Given the description of an element on the screen output the (x, y) to click on. 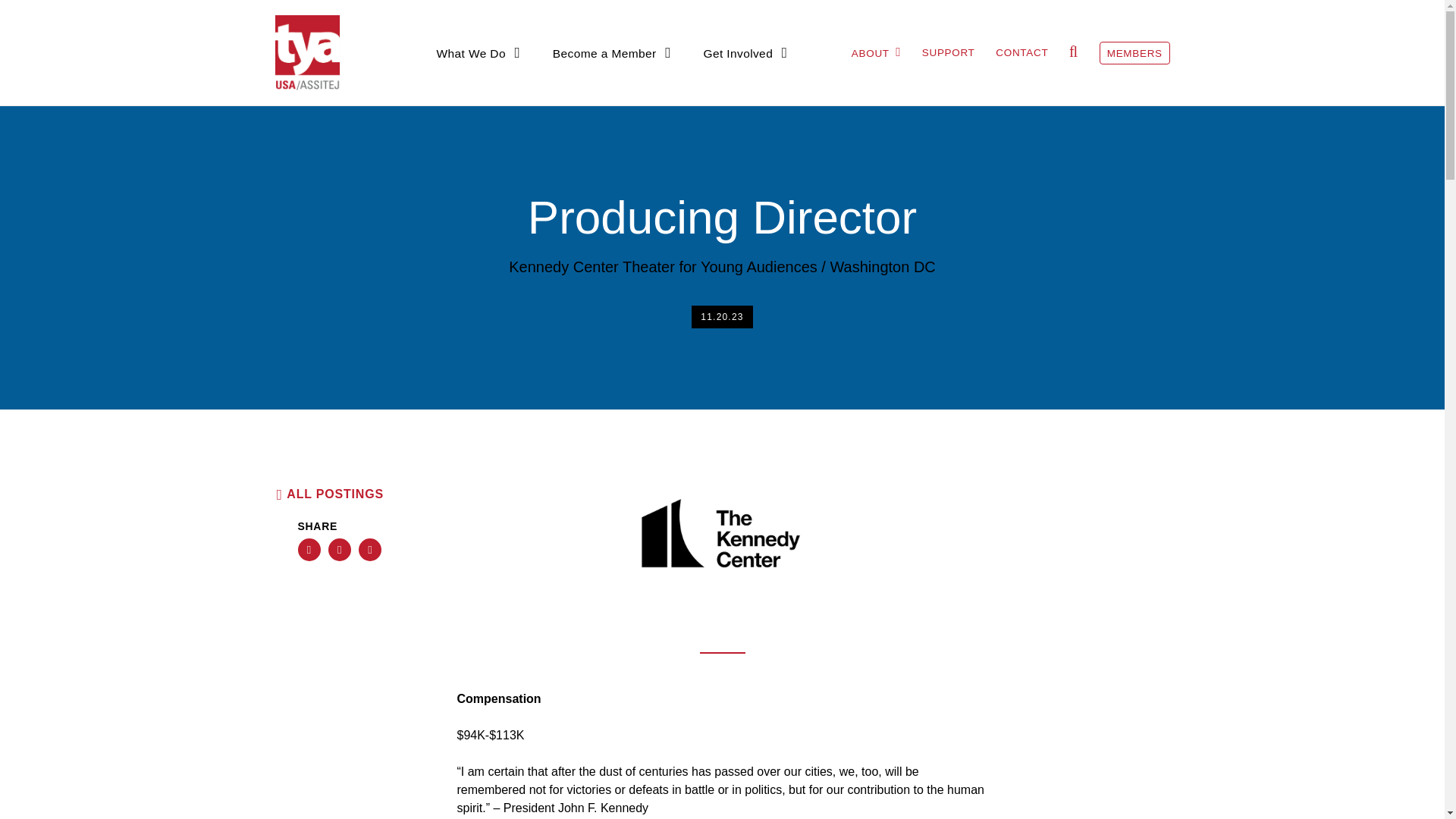
Events (505, 81)
ABOUT (876, 51)
Advertise (735, 81)
CONTACT (1021, 52)
Our Team (775, 81)
What We Do (478, 52)
Publications (707, 81)
ALL POSTINGS (328, 494)
SUPPORT (948, 52)
Become a Member (612, 52)
